Given the description of an element on the screen output the (x, y) to click on. 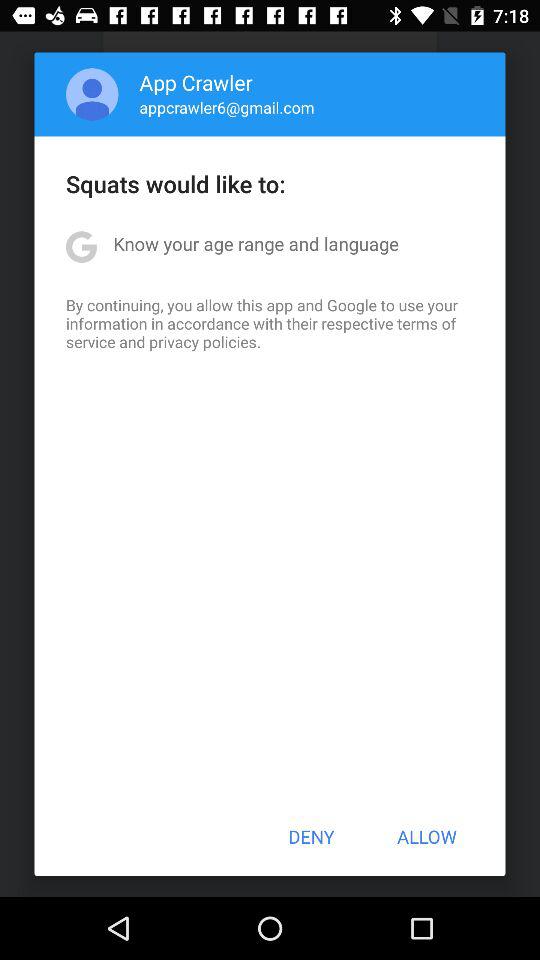
turn on the app above appcrawler6@gmail.com icon (195, 82)
